Given the description of an element on the screen output the (x, y) to click on. 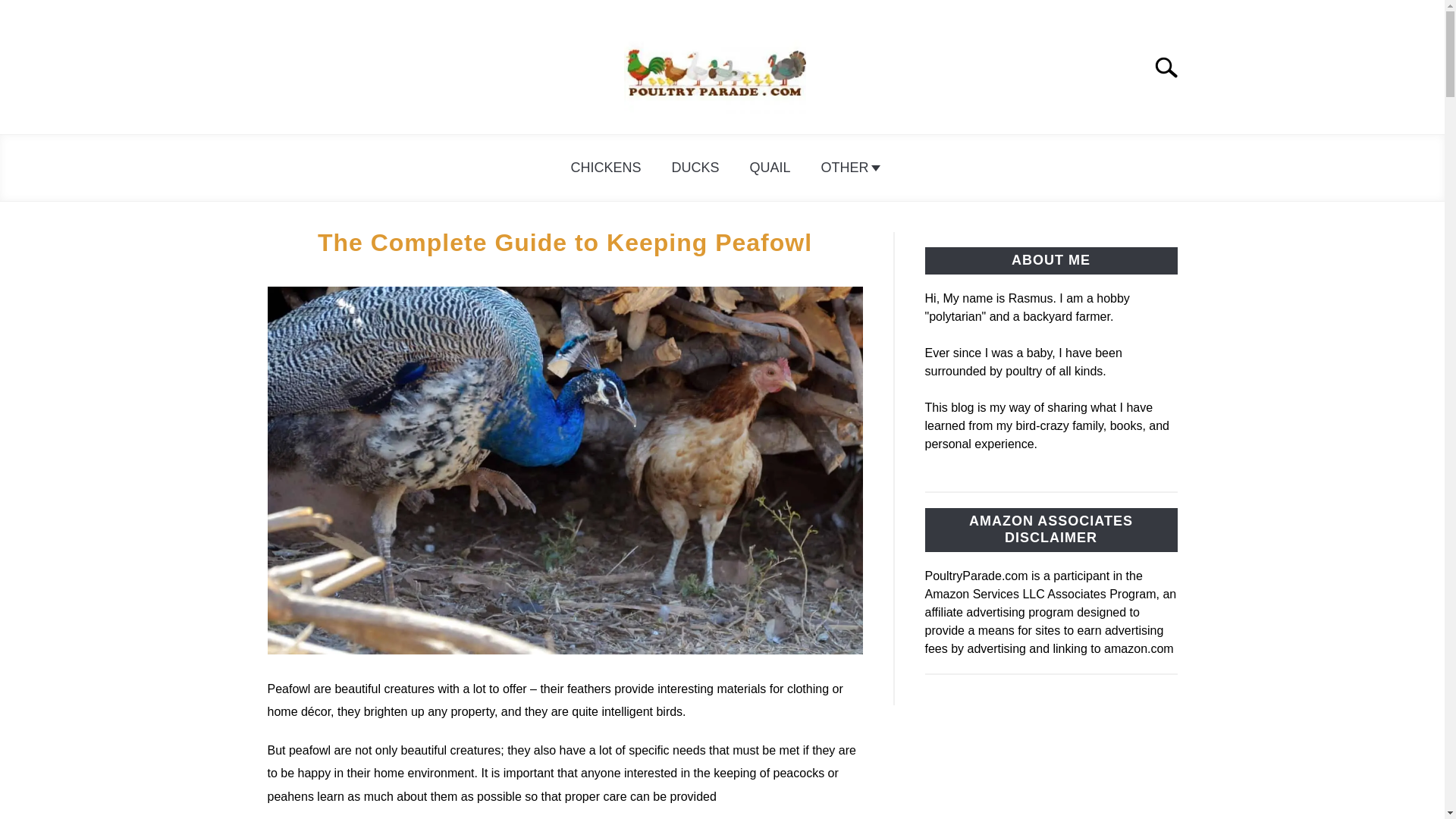
QUAIL (769, 167)
DUCKS (694, 167)
CHICKENS (605, 167)
OTHER (847, 167)
Search (1172, 67)
